Given the description of an element on the screen output the (x, y) to click on. 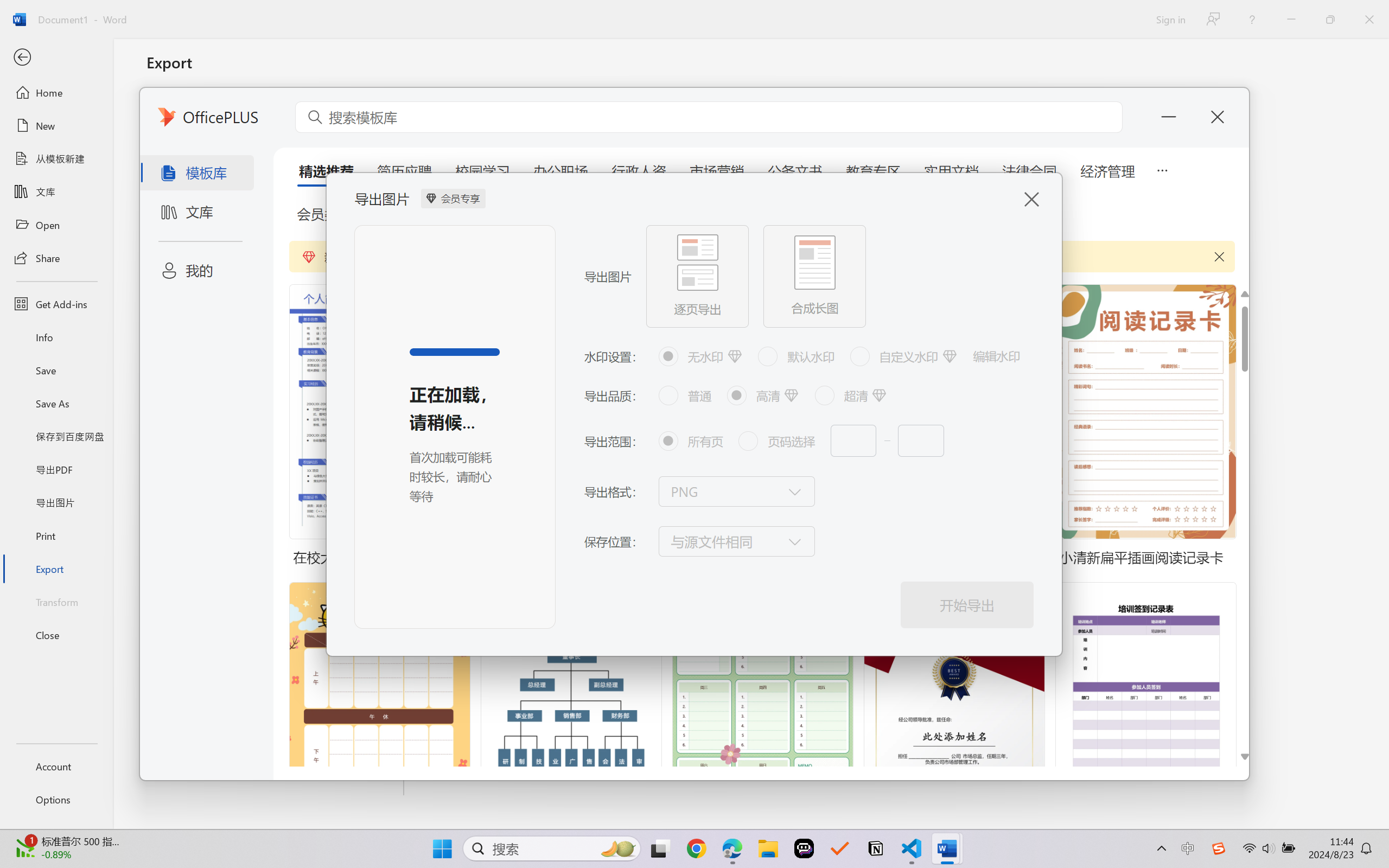
New (56, 125)
Save As (56, 403)
Create PDF/XPS Document (275, 110)
Account (56, 765)
